Given the description of an element on the screen output the (x, y) to click on. 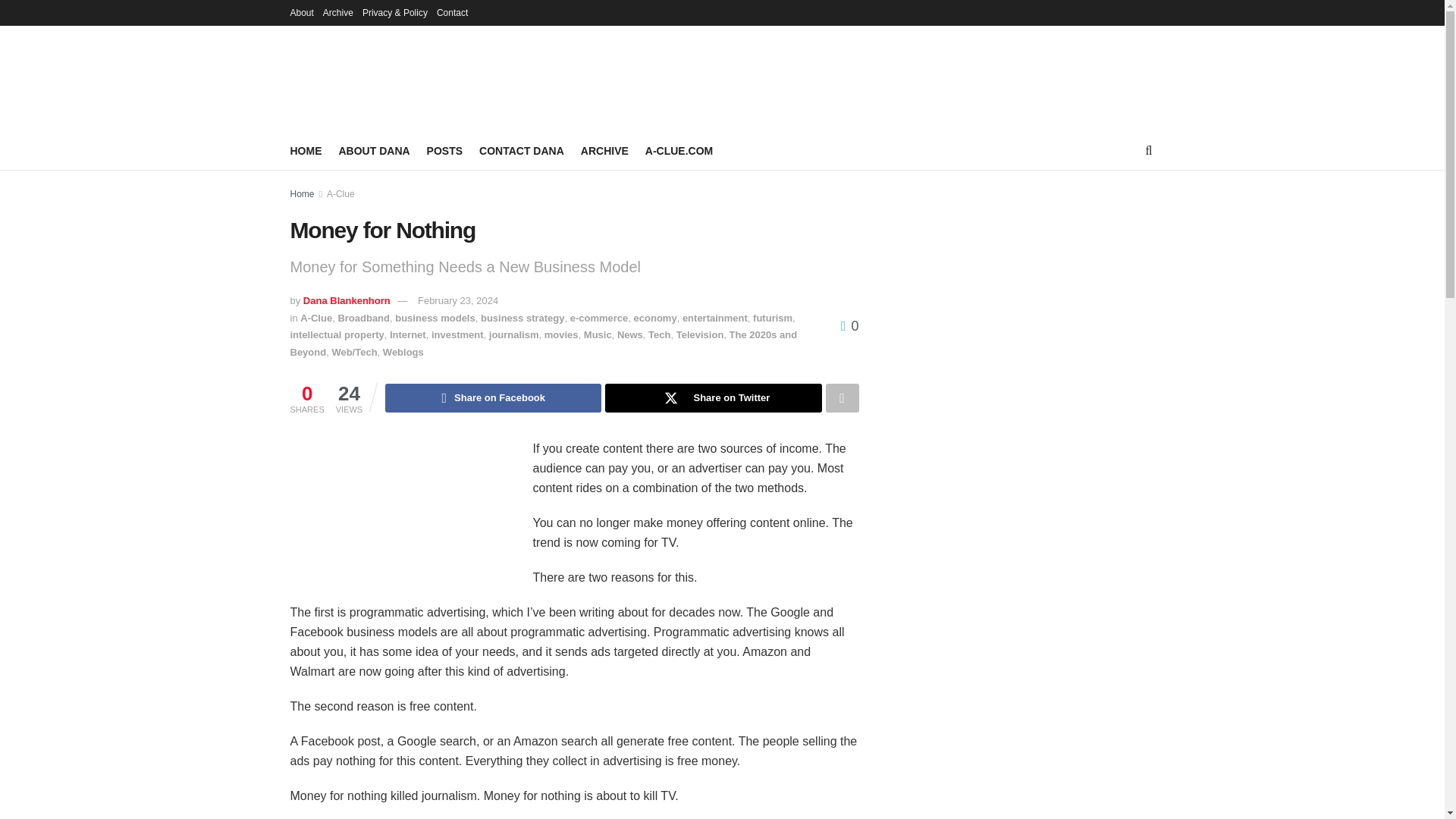
ARCHIVE (604, 150)
A-Clue (315, 317)
futurism (772, 317)
A-Clue (340, 194)
February 23, 2024 (457, 300)
About (301, 12)
Contact (451, 12)
Internet (408, 334)
Broadband (363, 317)
POSTS (444, 150)
